Given the description of an element on the screen output the (x, y) to click on. 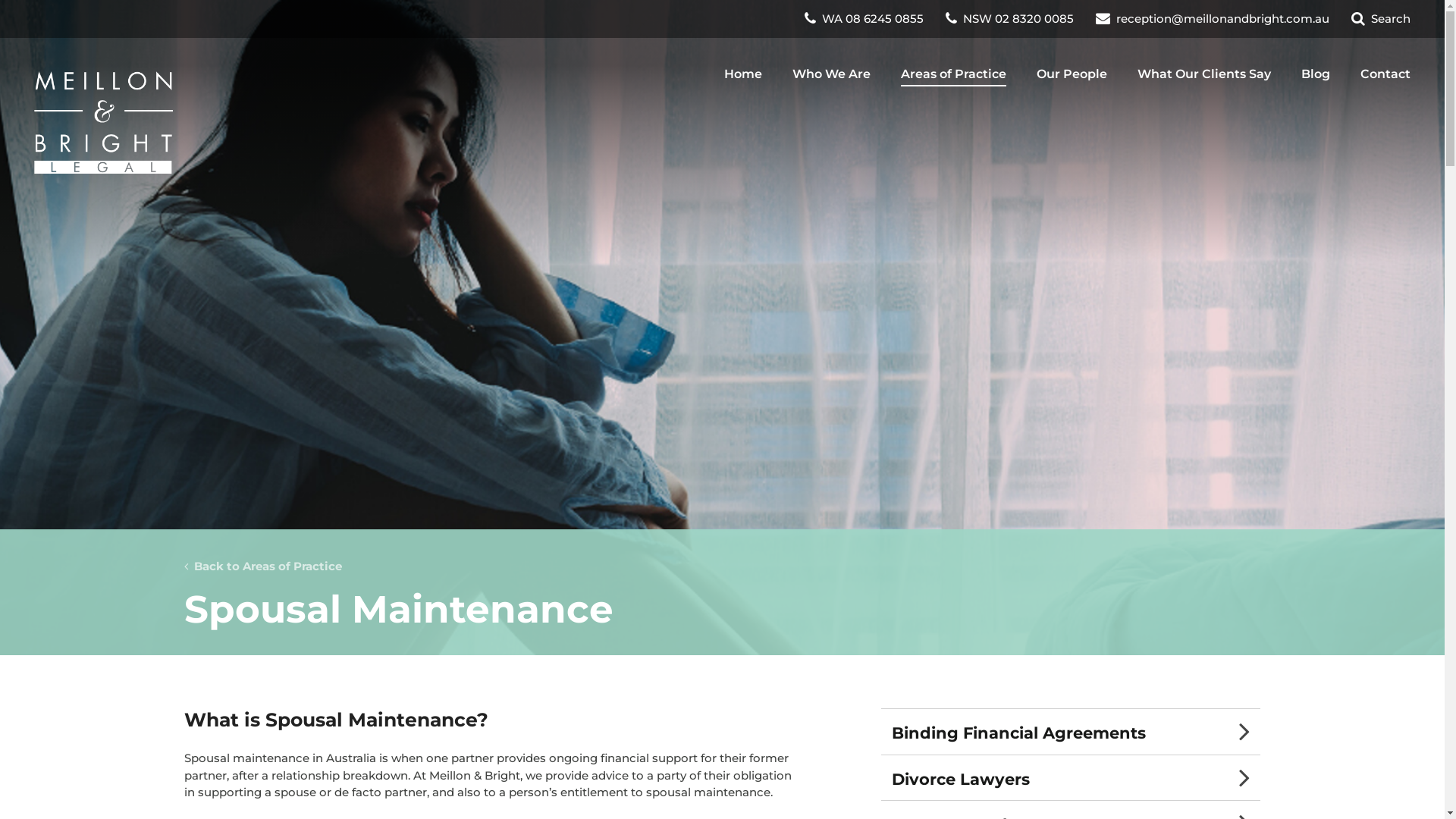
Our People Element type: text (1071, 74)
Areas of Practice Element type: text (953, 74)
  WA 08 6245 0855 Element type: text (865, 18)
Divorce Lawyers Element type: text (1070, 777)
Home Element type: text (743, 74)
Binding Financial Agreements Element type: text (1070, 731)
Who We Are Element type: text (831, 74)
What Our Clients Say Element type: text (1204, 74)
Meillon & Bright Legal Element type: hover (103, 122)
Blog Element type: text (1315, 74)
Contact Element type: text (1385, 74)
  reception@meillonandbright.com.au Element type: text (1213, 18)
  NSW 02 8320 0085 Element type: text (1010, 18)
  Back to Areas of Practice Element type: text (262, 566)
  Search Element type: text (1380, 18)
